Given the description of an element on the screen output the (x, y) to click on. 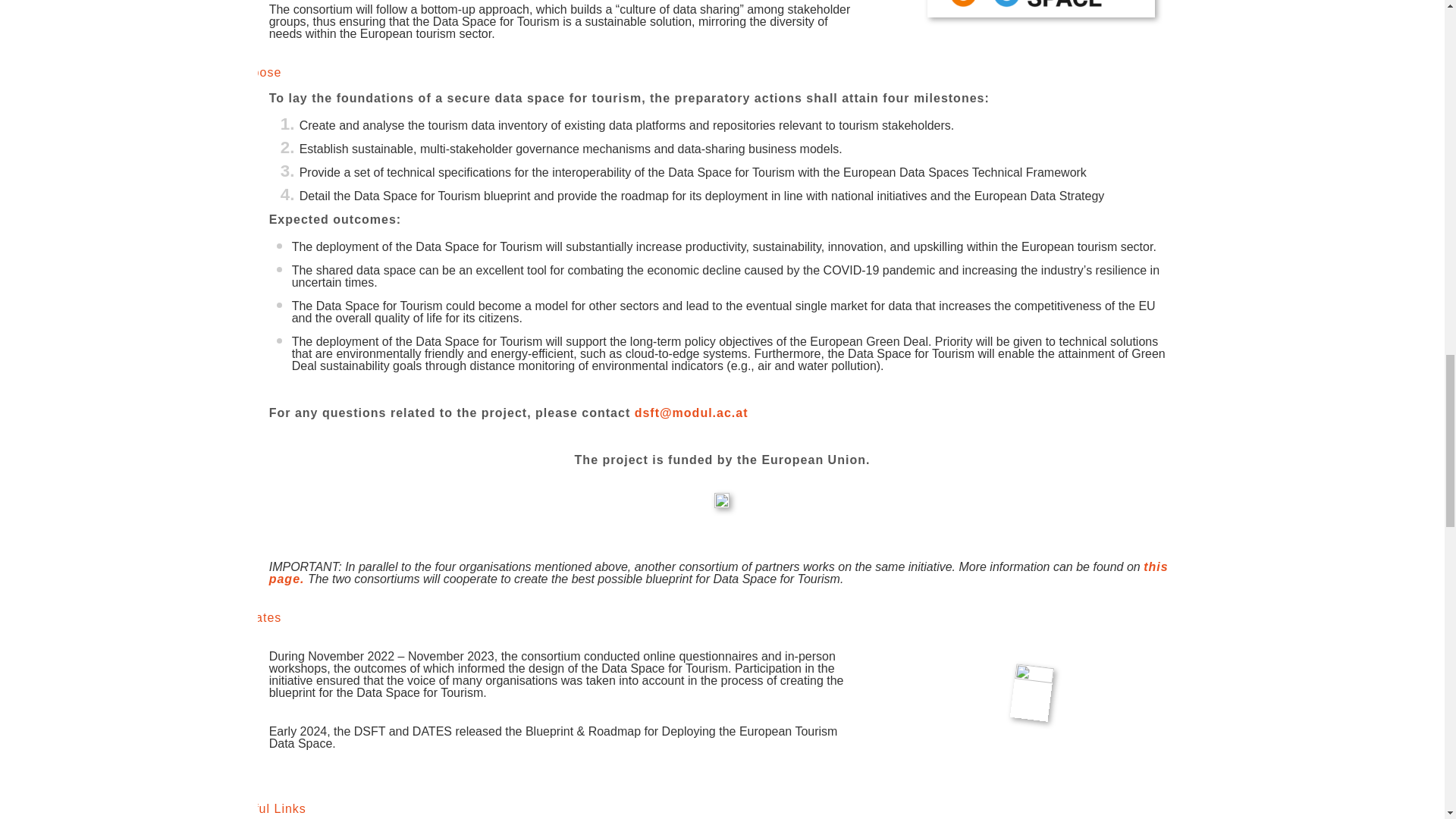
Tourism Data Space 1024 x 410 px (1040, 8)
